Given the description of an element on the screen output the (x, y) to click on. 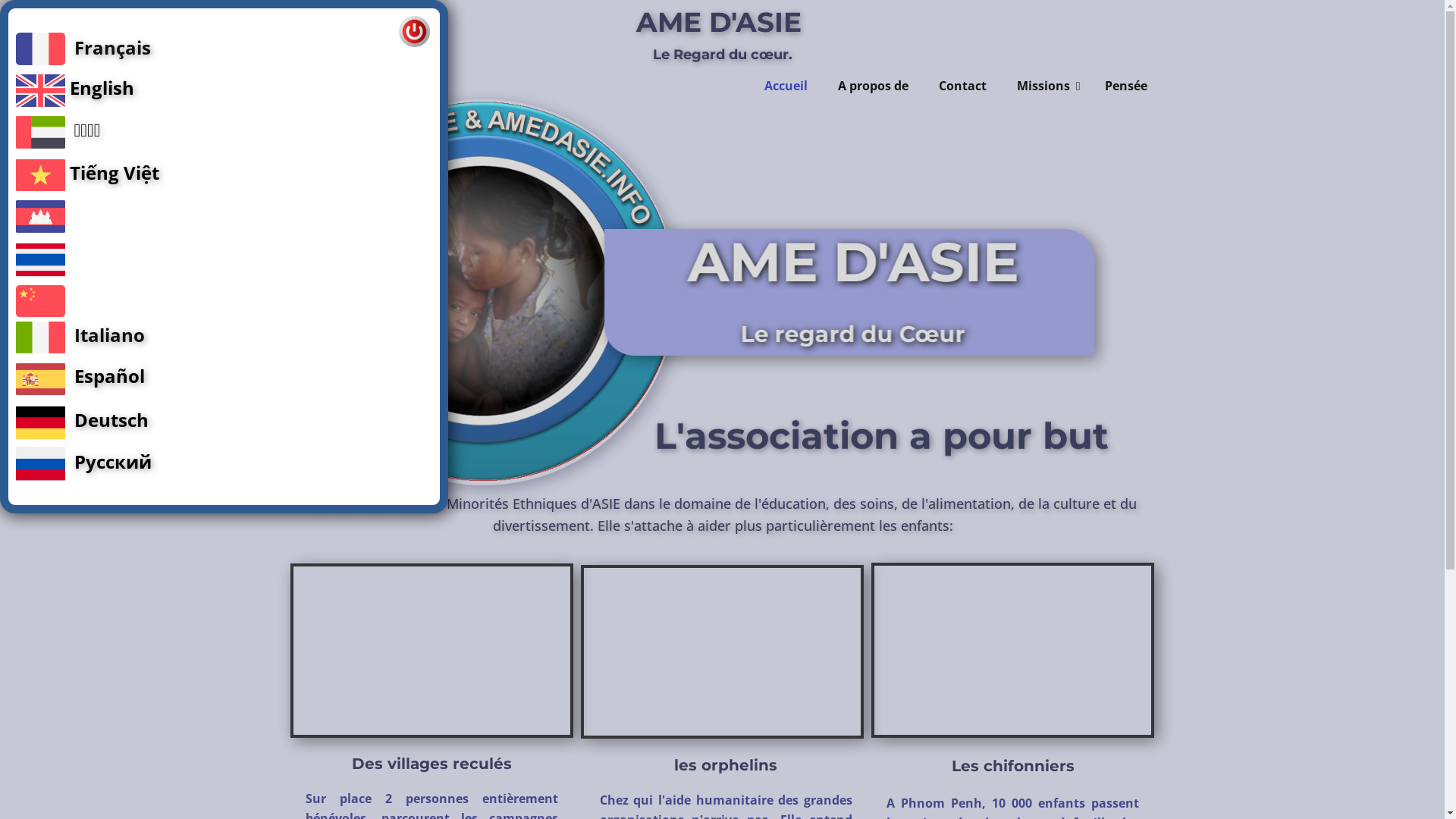
Accueil Element type: text (785, 85)
Deutsch Element type: text (111, 419)
Contact Element type: text (962, 85)
English Element type: text (101, 87)
Accueil Element type: hover (325, 54)
Italiano Element type: text (109, 333)
Missions Element type: text (1045, 85)
A propos de Element type: text (873, 85)
